Given the description of an element on the screen output the (x, y) to click on. 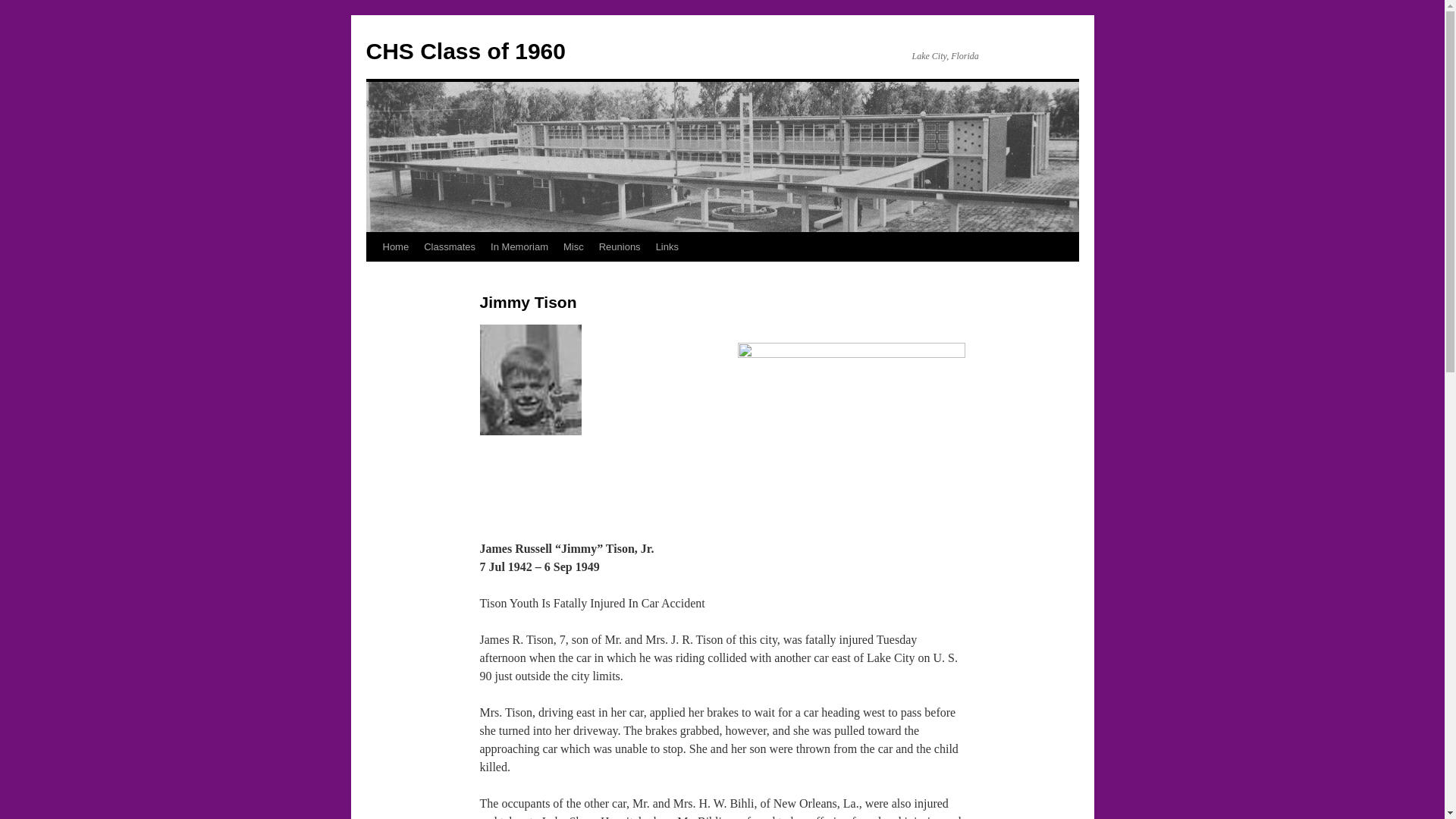
Misc (573, 246)
James R Tison Jr gravestone Memorial Cemetery (849, 410)
Home (395, 246)
Links (666, 246)
Jimmy Tison (529, 379)
In Memoriam (519, 246)
Reunions (619, 246)
Classmates (449, 246)
CHS Class of 1960 (464, 50)
